Given the description of an element on the screen output the (x, y) to click on. 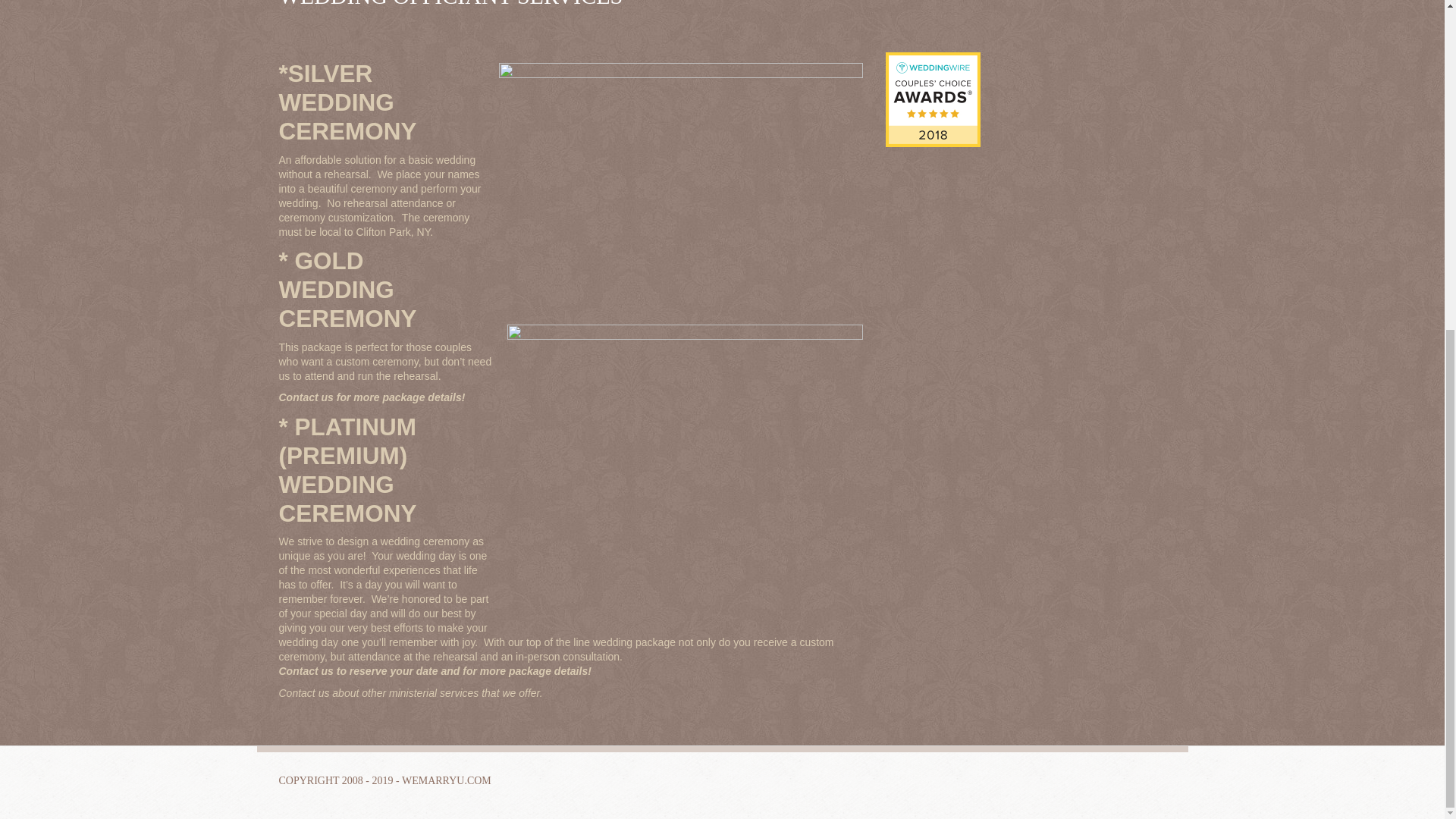
WeMarryU, WeddingWire Couples' Choice Award Winner 2018 (932, 98)
